Given the description of an element on the screen output the (x, y) to click on. 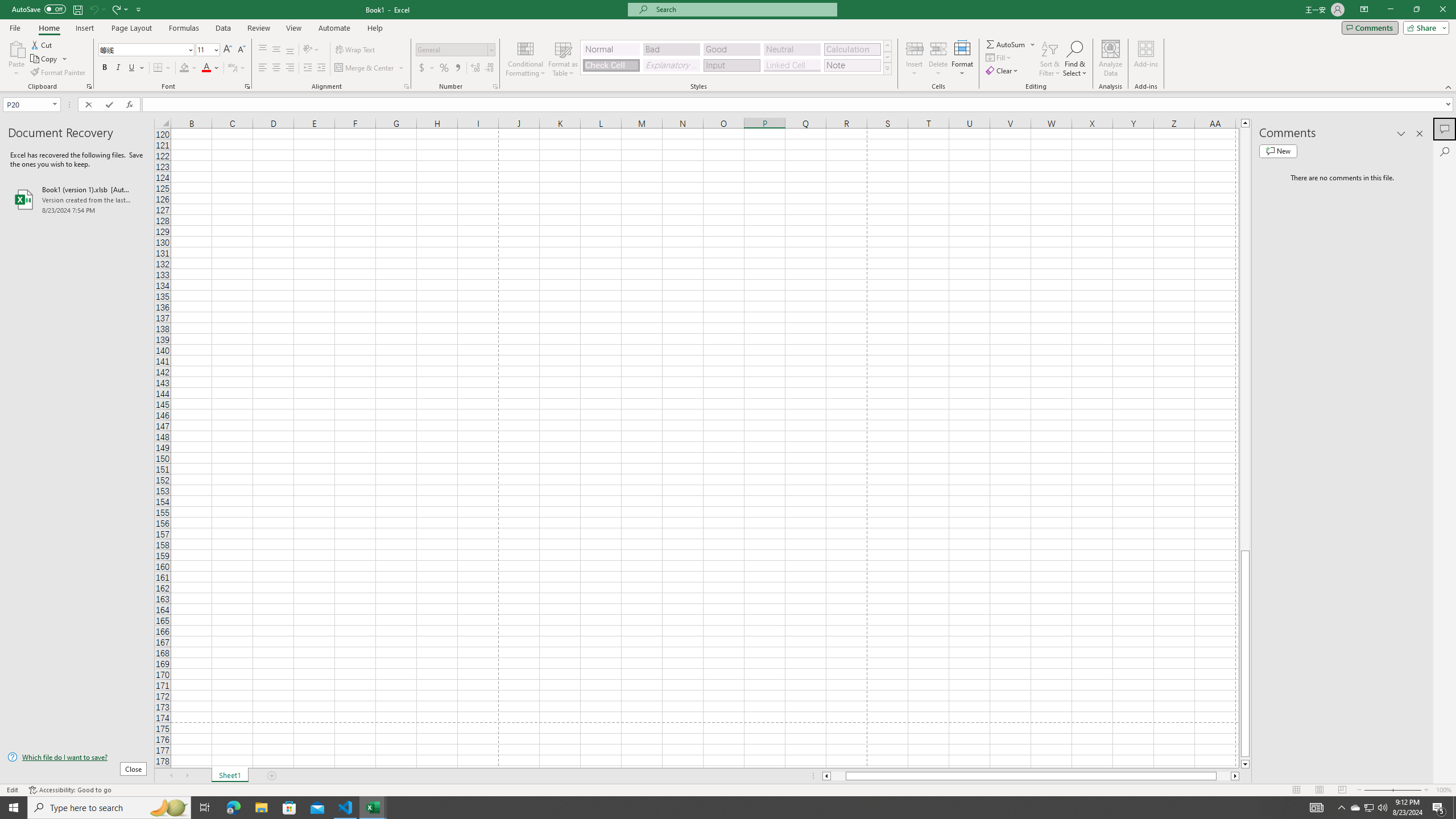
Italic (118, 67)
Center (276, 67)
Fill (999, 56)
